Given the description of an element on the screen output the (x, y) to click on. 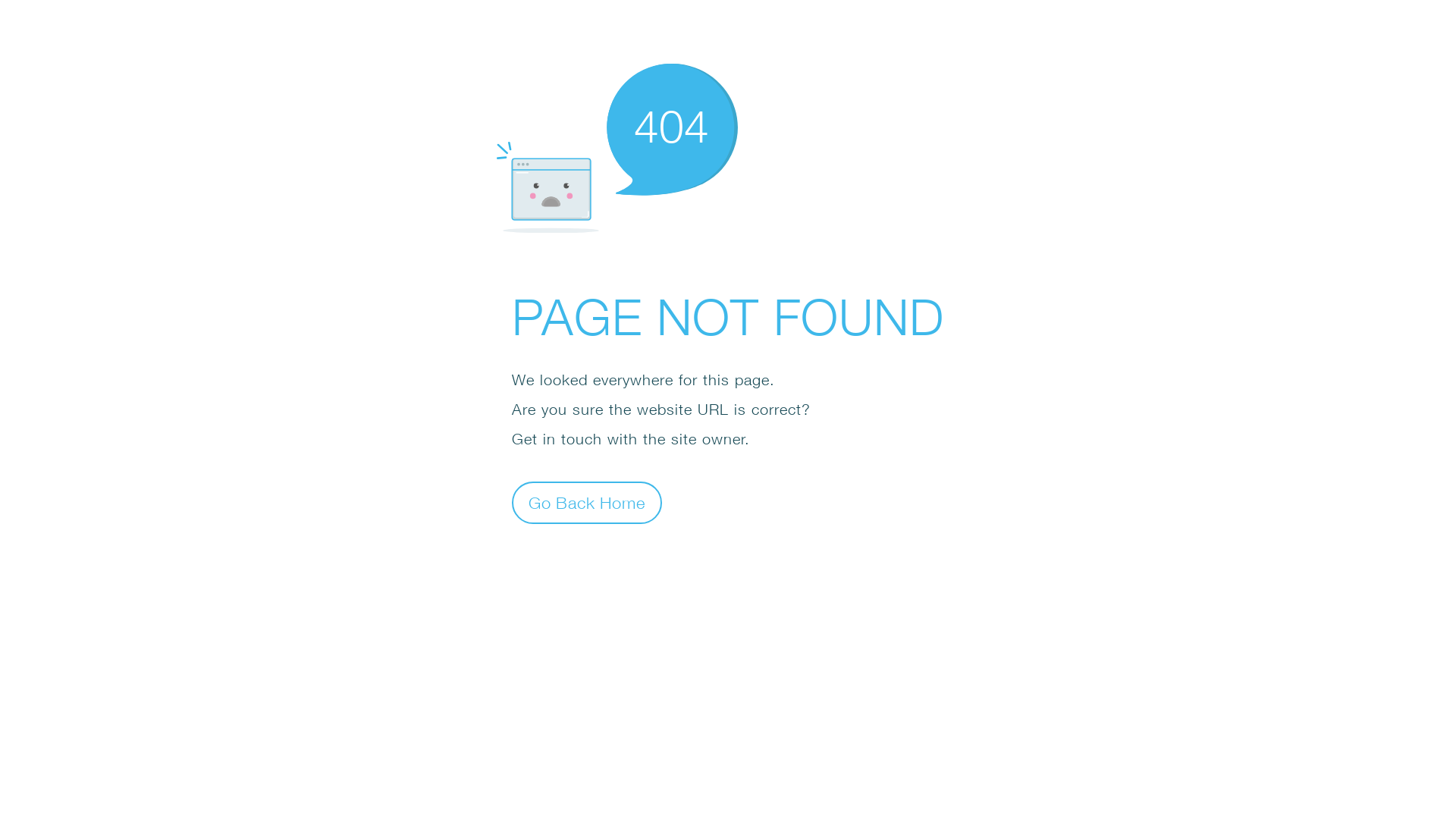
Go Back Home Element type: text (586, 502)
